Given the description of an element on the screen output the (x, y) to click on. 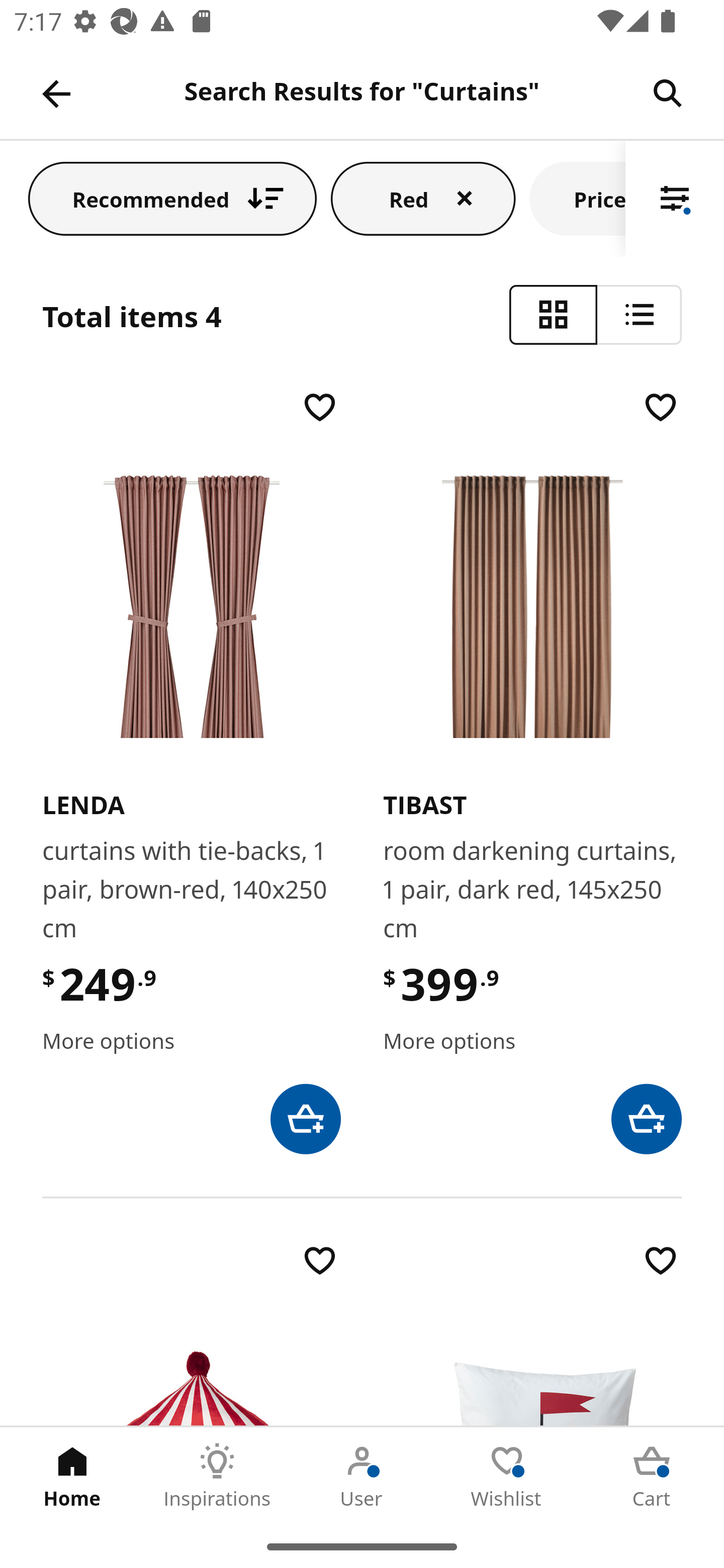
Recommended (172, 198)
Red (422, 198)
Home
Tab 1 of 5 (72, 1476)
Inspirations
Tab 2 of 5 (216, 1476)
User
Tab 3 of 5 (361, 1476)
Wishlist
Tab 4 of 5 (506, 1476)
Cart
Tab 5 of 5 (651, 1476)
